Given the description of an element on the screen output the (x, y) to click on. 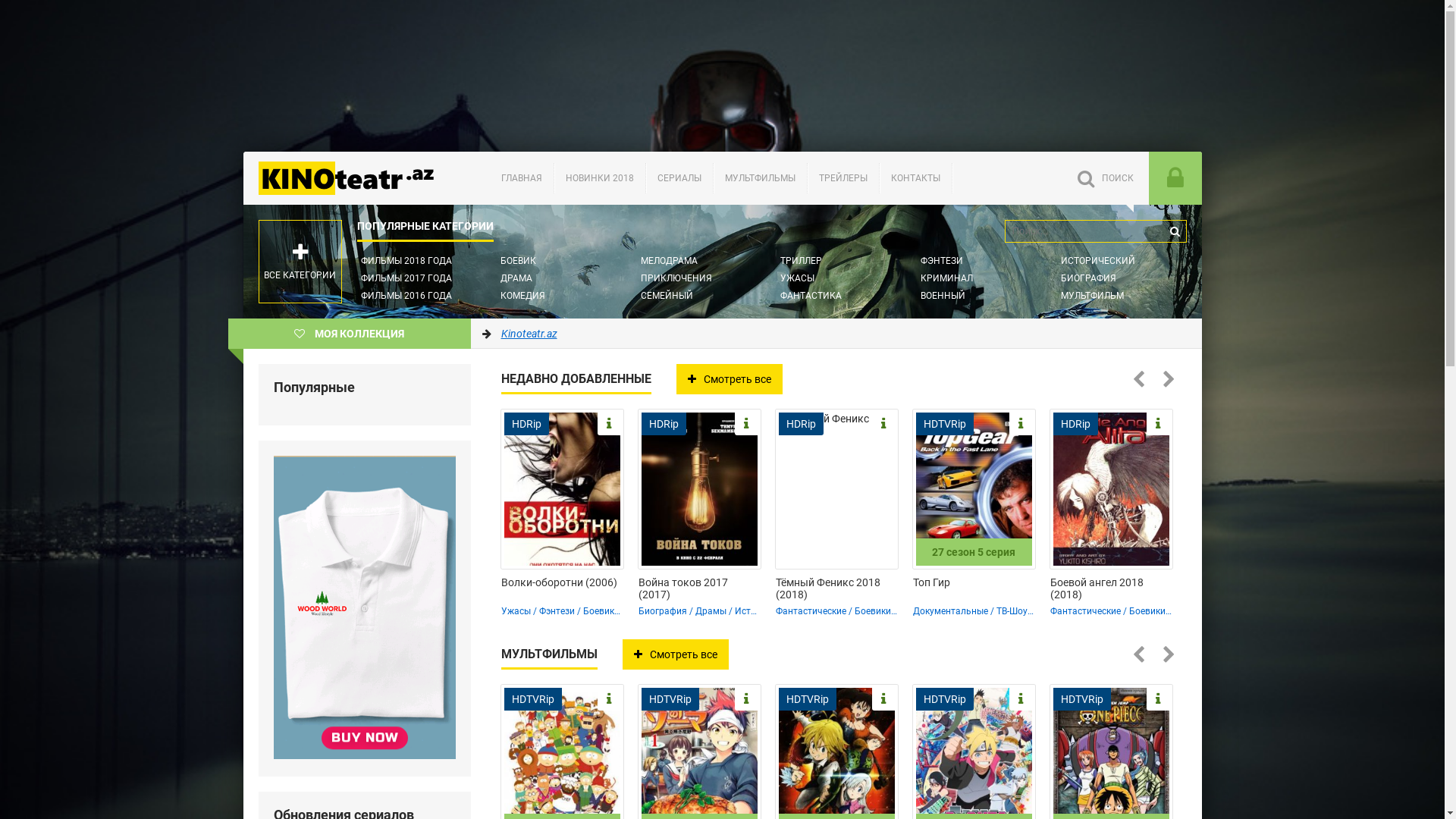
Kinoteatr.az Element type: text (528, 333)
Kinoteatr.az Element type: text (356, 177)
